Given the description of an element on the screen output the (x, y) to click on. 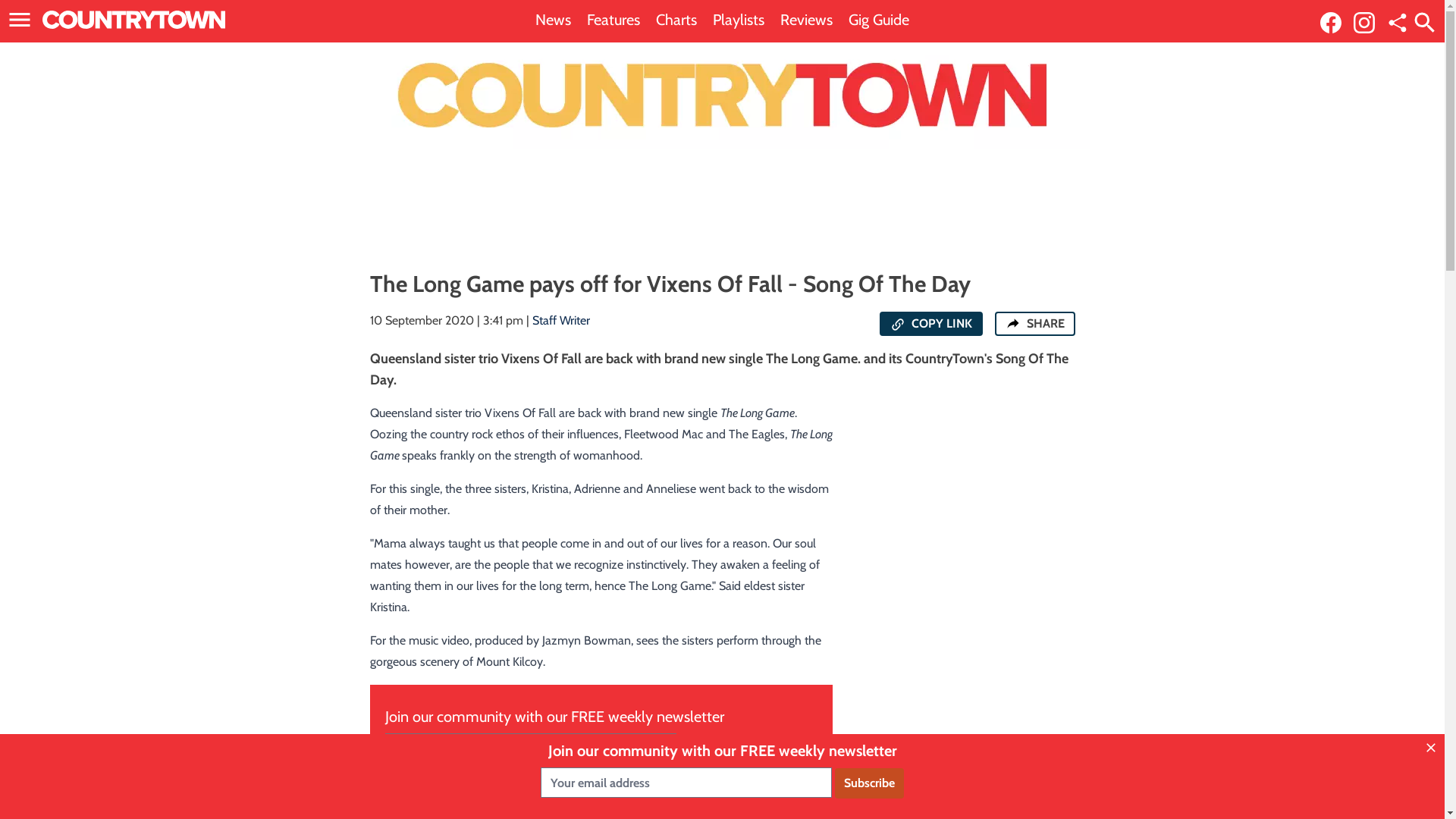
Link to our Facebook Element type: text (1335, 21)
Charts Element type: text (675, 19)
SHARE Element type: text (1034, 323)
Subscribe Element type: text (712, 749)
Playlists Element type: text (738, 19)
Open the main menu Element type: text (22, 19)
News Element type: text (553, 19)
COPY LINK Element type: text (930, 323)
Share this page Element type: text (1397, 22)
Link to our Instagram Element type: text (1368, 21)
Features Element type: text (613, 19)
Staff Writer Element type: text (560, 320)
Open the site search menu Element type: text (1424, 22)
Gig Guide Element type: text (878, 19)
Subscribe Element type: text (868, 782)
Reviews Element type: text (806, 19)
